Given the description of an element on the screen output the (x, y) to click on. 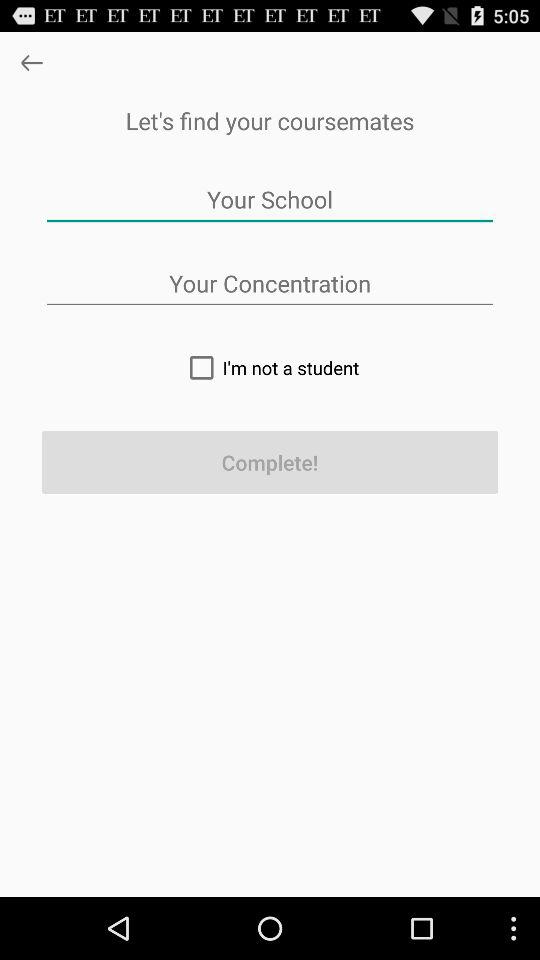
go back to the previous screen (31, 62)
